Given the description of an element on the screen output the (x, y) to click on. 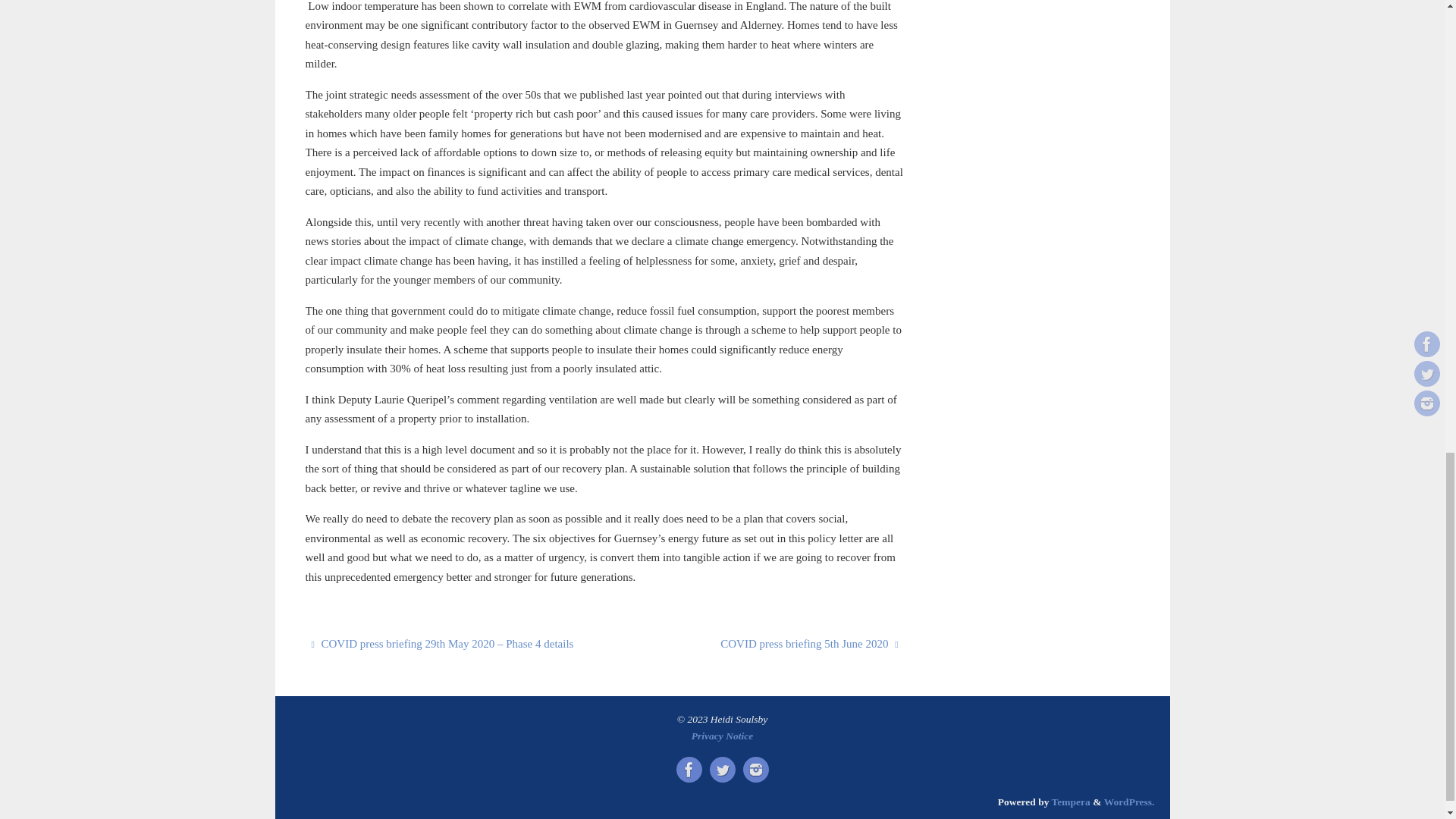
Heidi Soulsby (755, 769)
Tempera Theme by Cryout Creations (1070, 801)
Semantic Personal Publishing Platform (1128, 801)
Heidi Soulsby (722, 769)
Heidi Soulsby (689, 769)
